Given the description of an element on the screen output the (x, y) to click on. 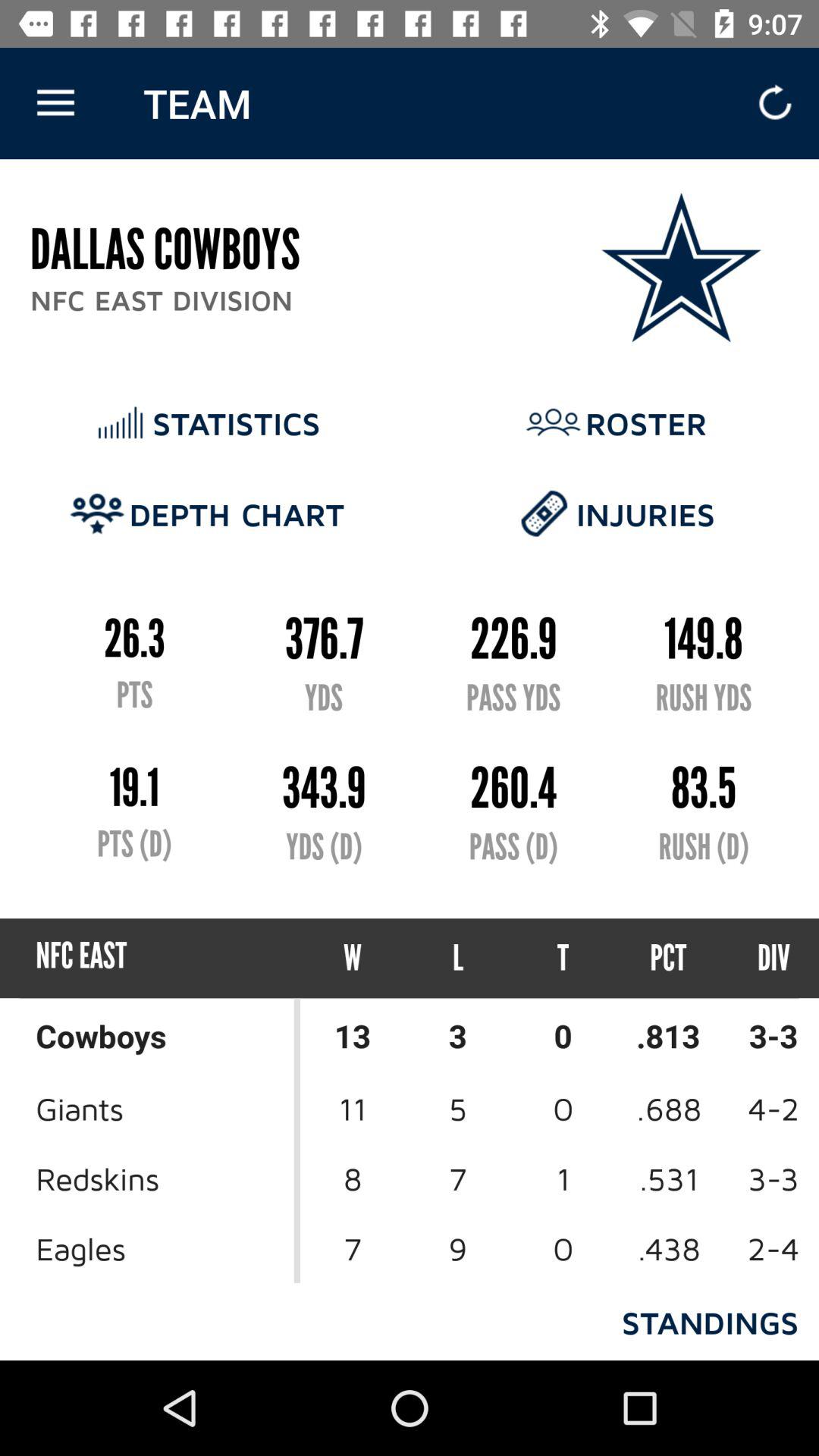
select item next to the l (562, 958)
